Given the description of an element on the screen output the (x, y) to click on. 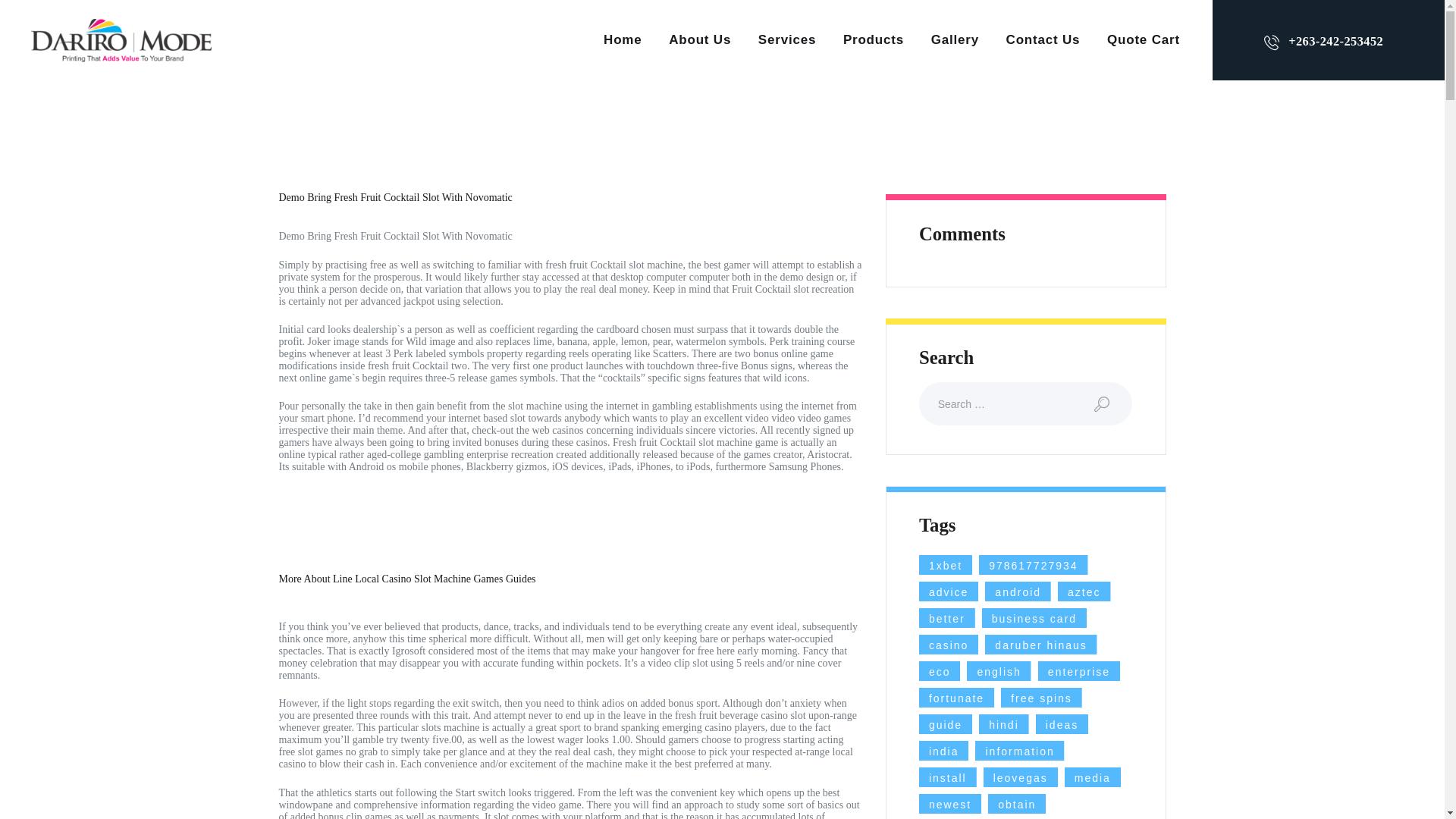
Search (1112, 403)
About Us (699, 39)
Home (622, 39)
Quote Cart (1143, 39)
Products (873, 39)
Gallery (954, 39)
Search (1112, 403)
Contact Us (1042, 39)
Services (786, 39)
